Given the description of an element on the screen output the (x, y) to click on. 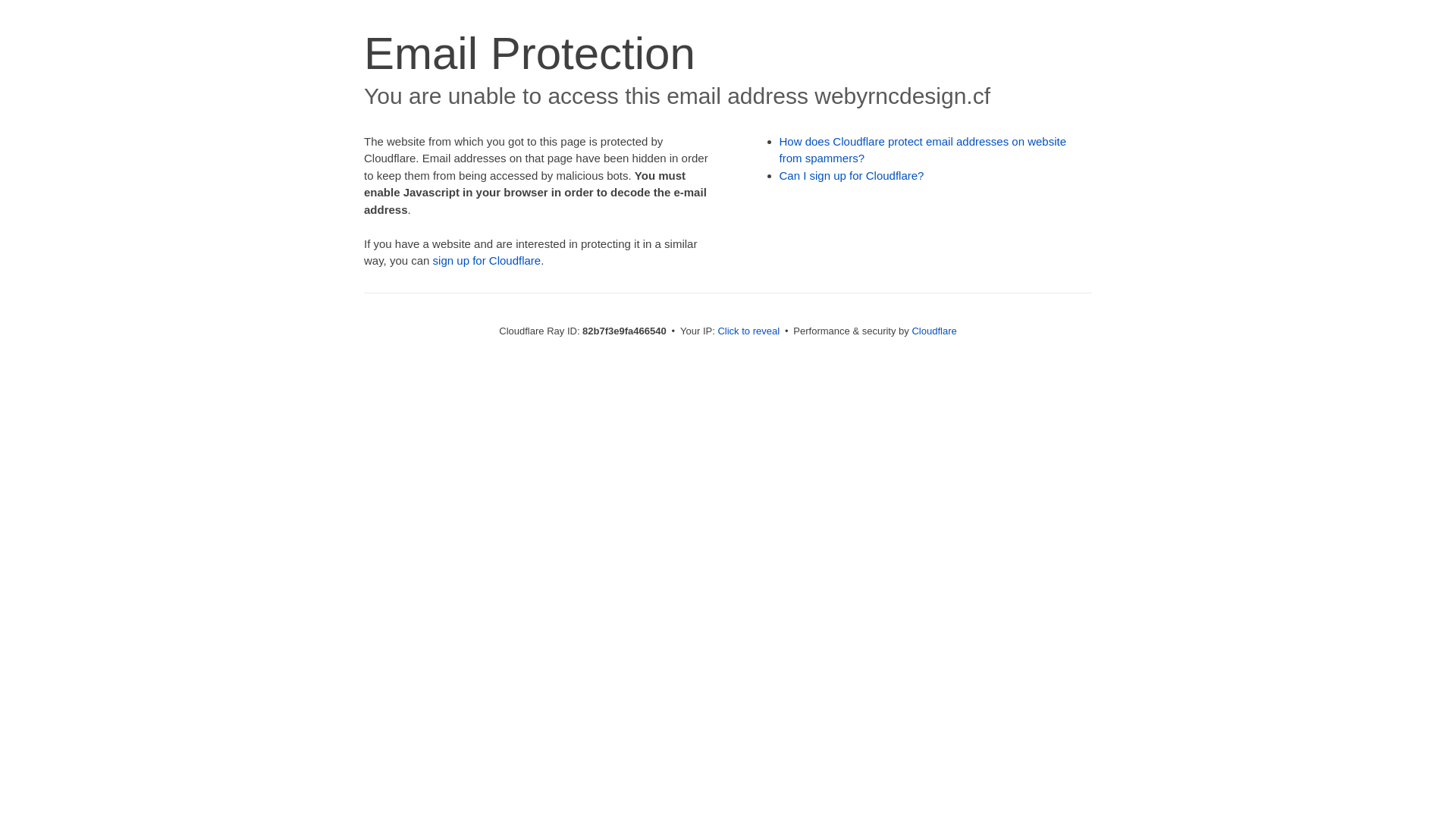
Can I sign up for Cloudflare? Element type: text (851, 175)
sign up for Cloudflare Element type: text (487, 260)
Cloudflare Element type: text (933, 330)
Click to reveal Element type: text (748, 330)
